Given the description of an element on the screen output the (x, y) to click on. 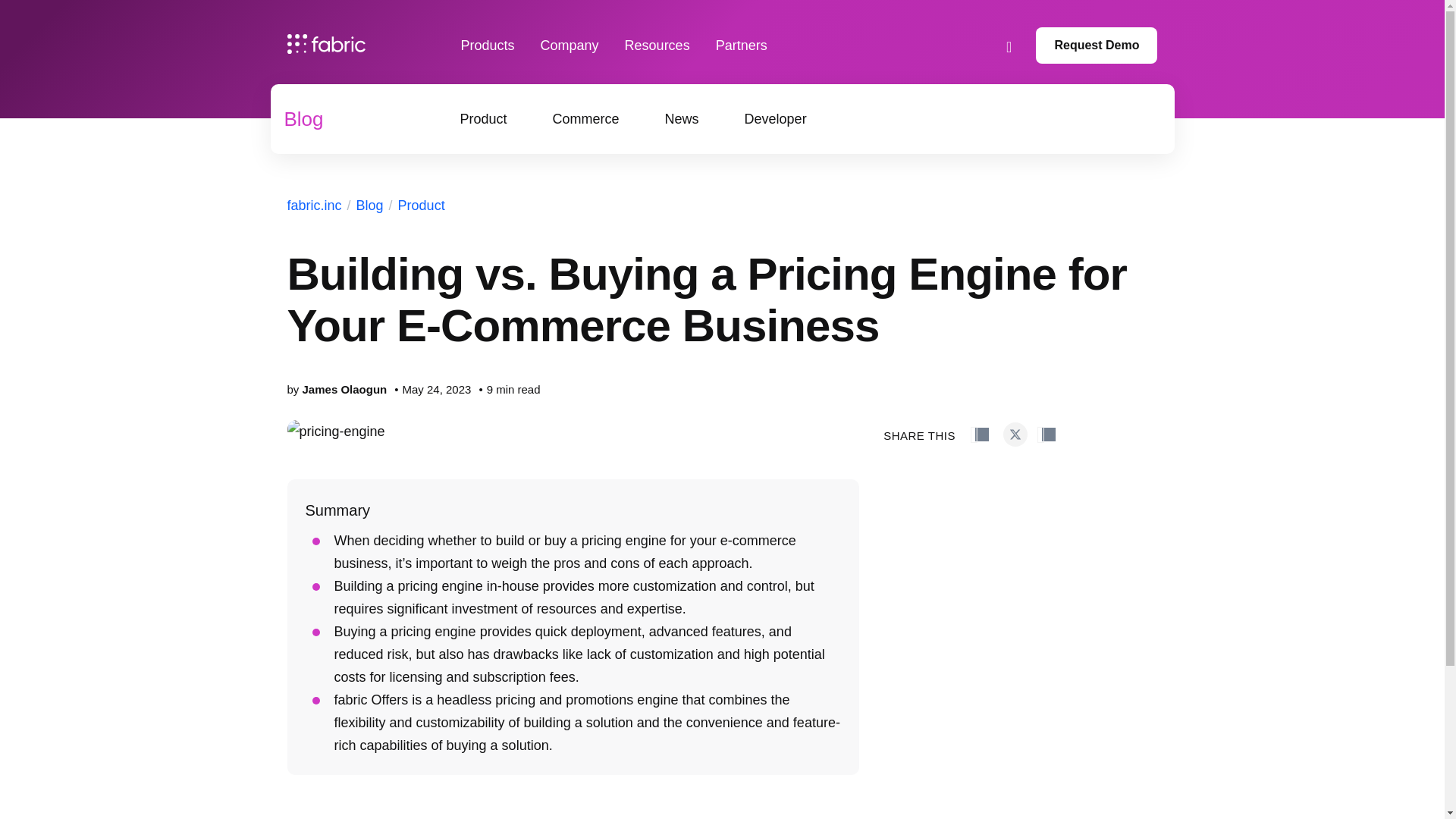
Company (569, 45)
Partners (741, 45)
Products (488, 45)
Resources (657, 45)
Request Demo (1096, 45)
